Given the description of an element on the screen output the (x, y) to click on. 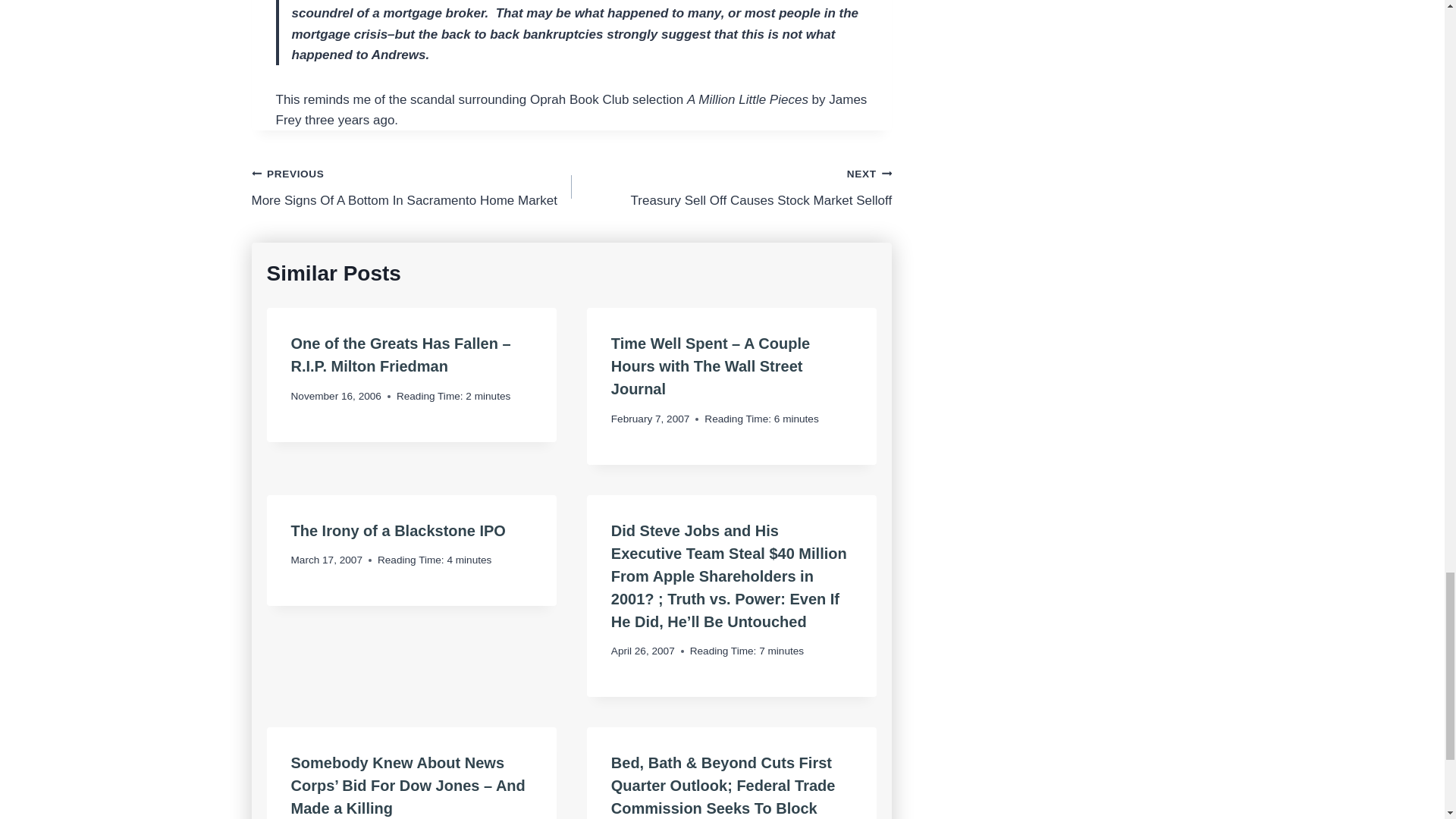
The Irony of a Blackstone IPO (411, 186)
